Given the description of an element on the screen output the (x, y) to click on. 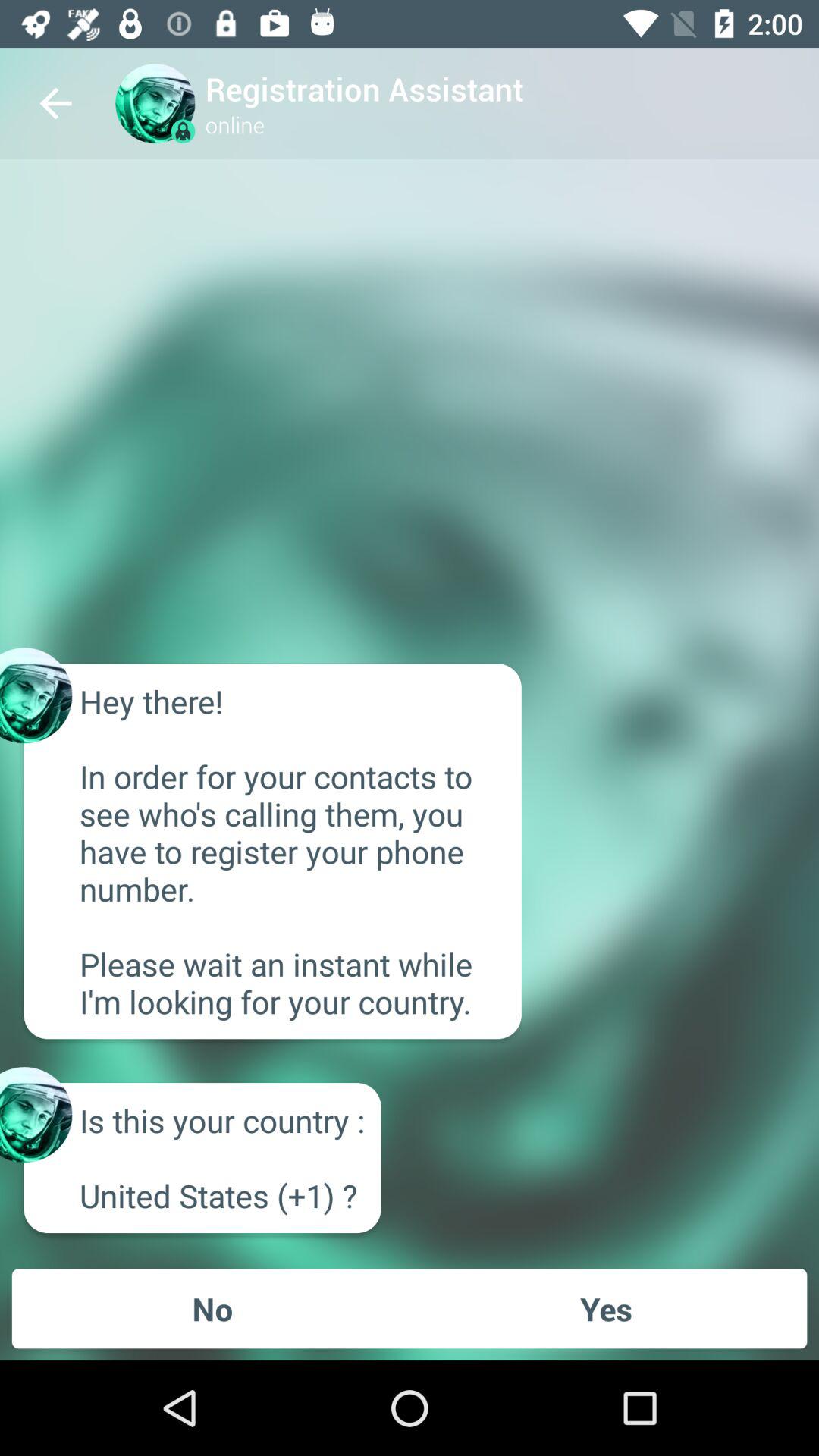
click the item at the bottom right corner (606, 1308)
